Given the description of an element on the screen output the (x, y) to click on. 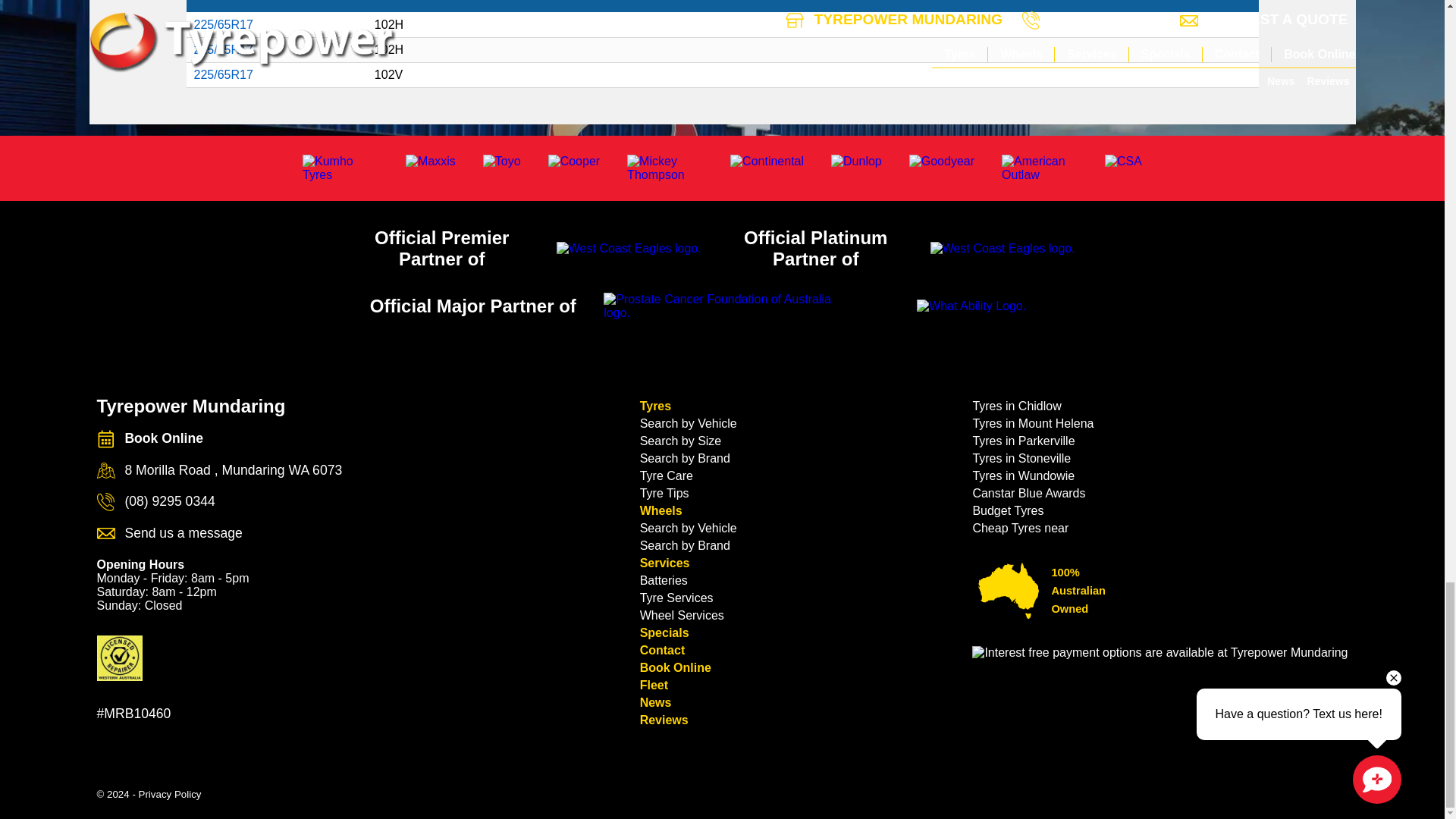
Tyrepower are the Official Sponsor of the Perth Wildcats. (1002, 248)
Tyrepower are the Official Sponsor of the West Coast Eagles. (628, 248)
